Given the description of an element on the screen output the (x, y) to click on. 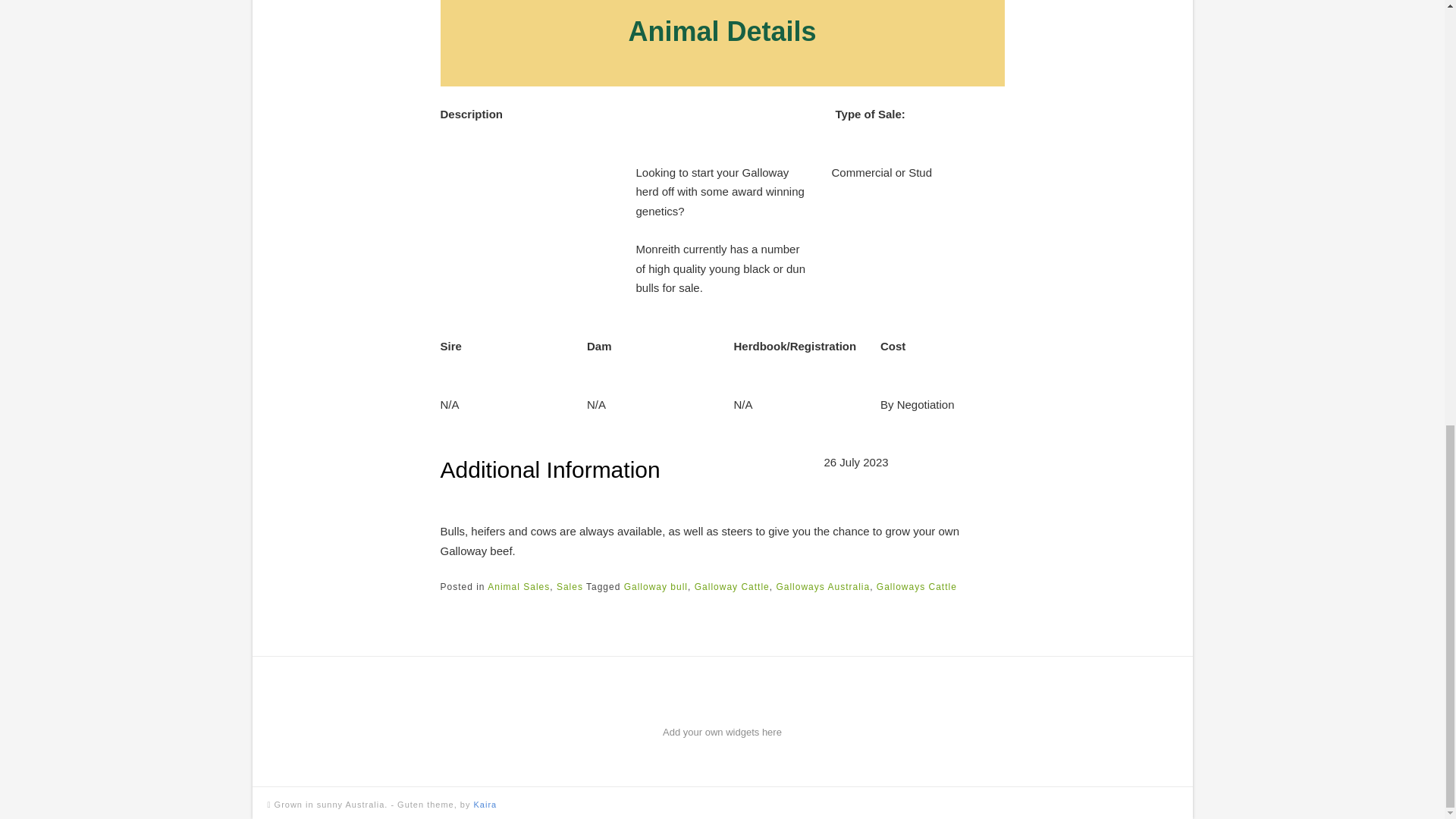
Galloway bull (655, 586)
Sales (569, 586)
Kaira (484, 804)
Galloway Cattle (732, 586)
Animal Sales (518, 586)
Galloways Cattle (916, 586)
Galloways Australia (822, 586)
